Given the description of an element on the screen output the (x, y) to click on. 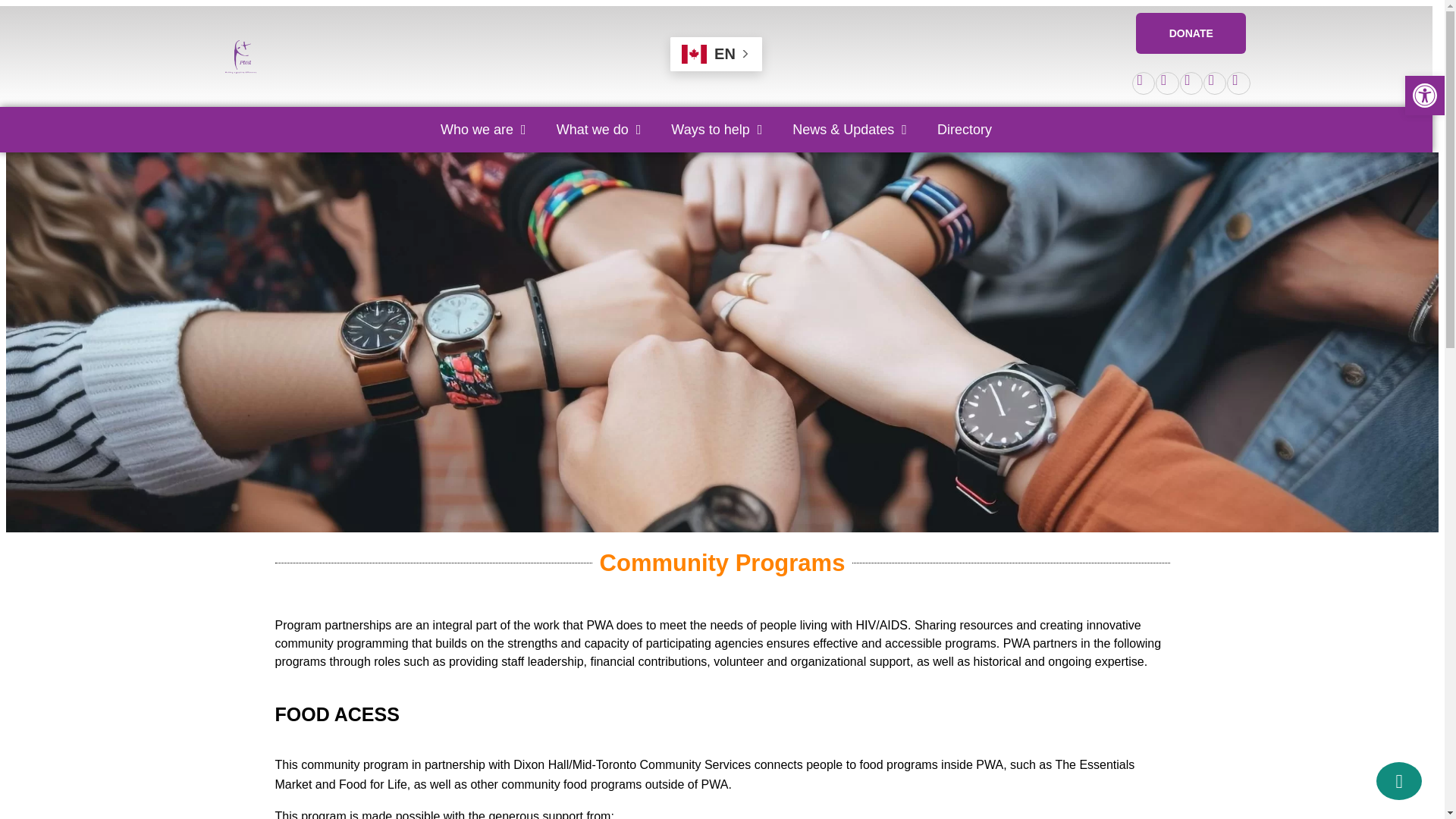
Who we are (483, 129)
What we do (598, 129)
DONATE (1190, 33)
